Given the description of an element on the screen output the (x, y) to click on. 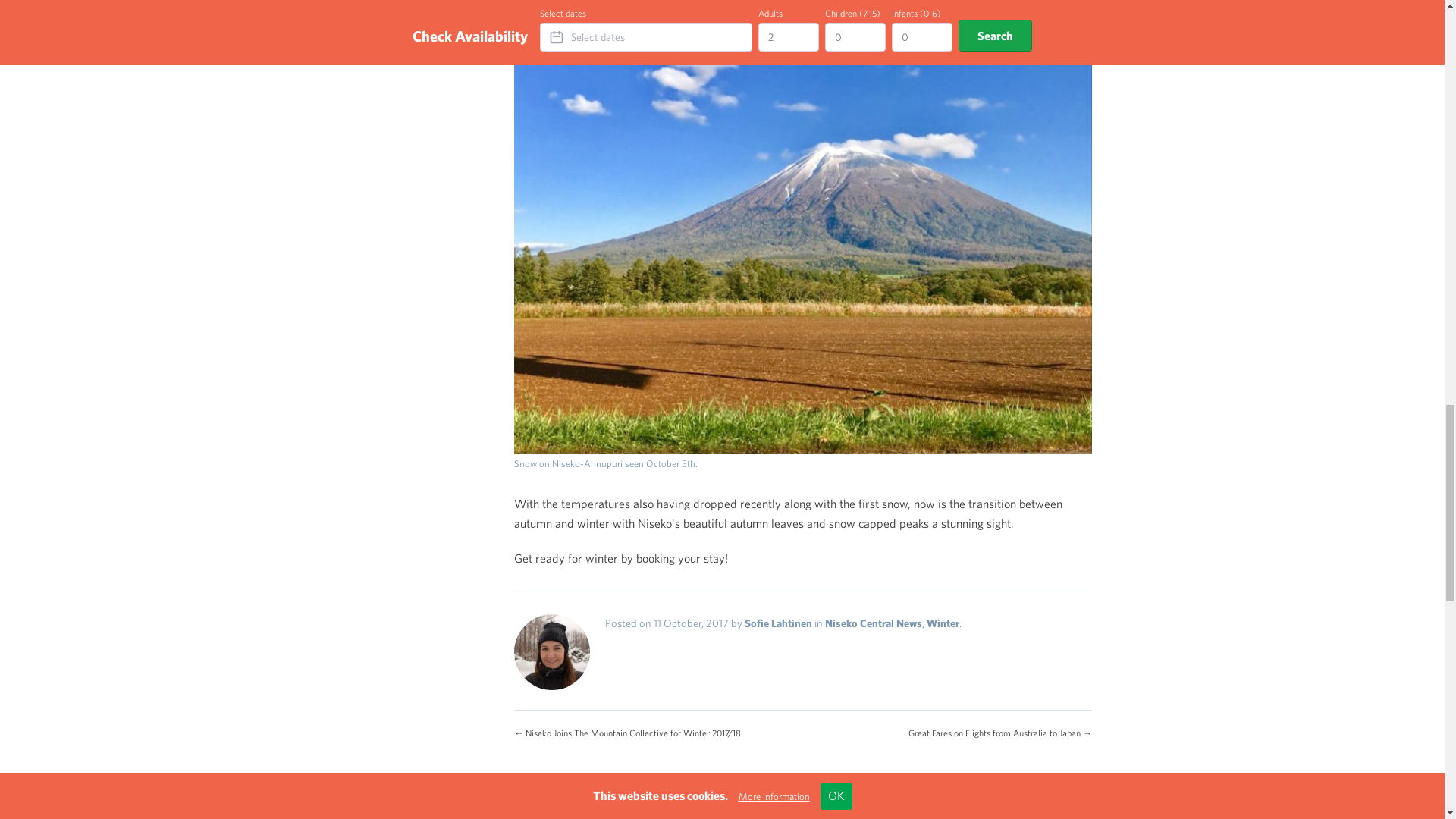
Sofie Lahtinen (778, 622)
Niseko Central News (873, 622)
